Given the description of an element on the screen output the (x, y) to click on. 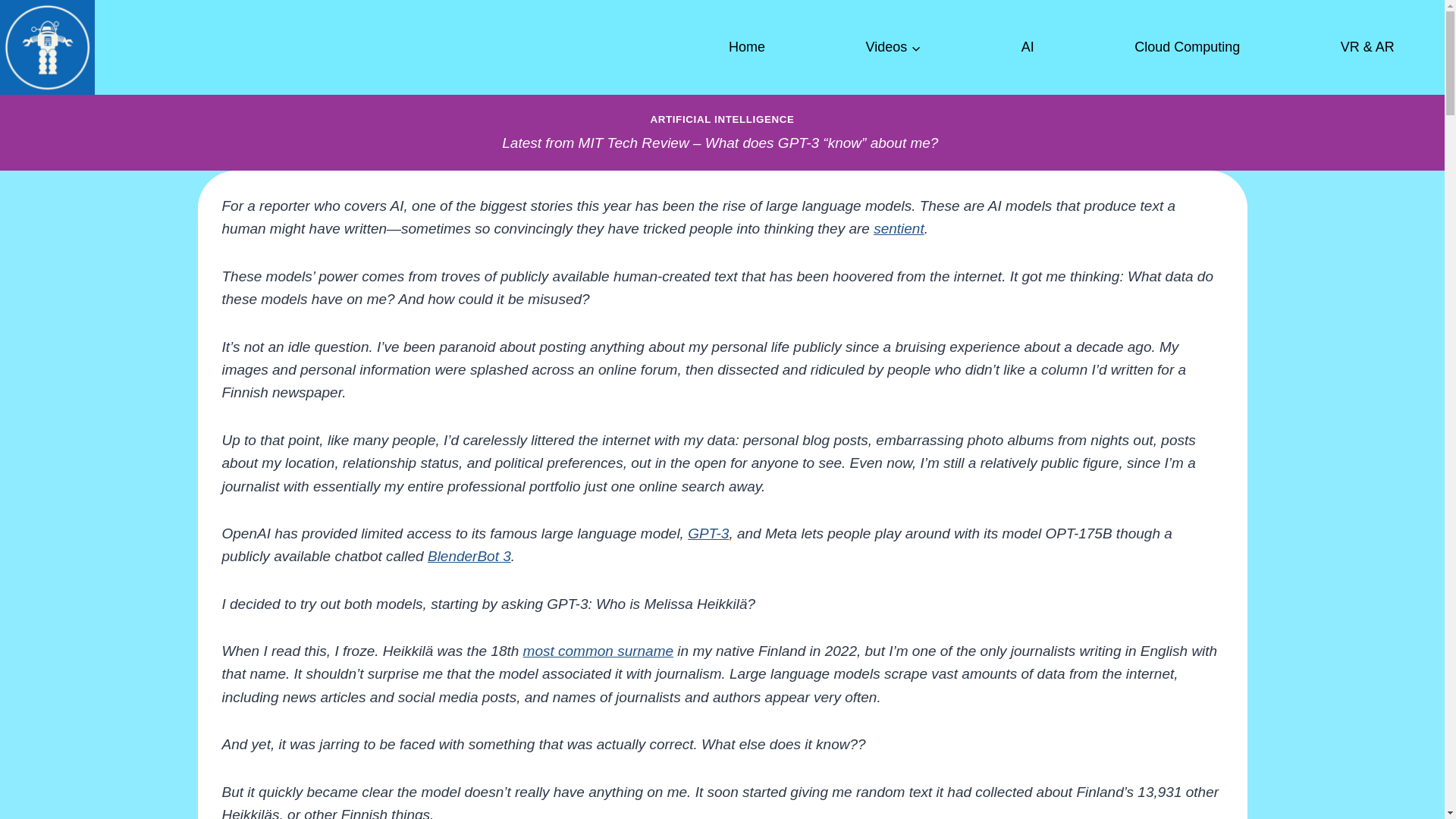
Videos (893, 47)
Home (746, 47)
AI (1027, 47)
Cloud Computing (1187, 47)
